Given the description of an element on the screen output the (x, y) to click on. 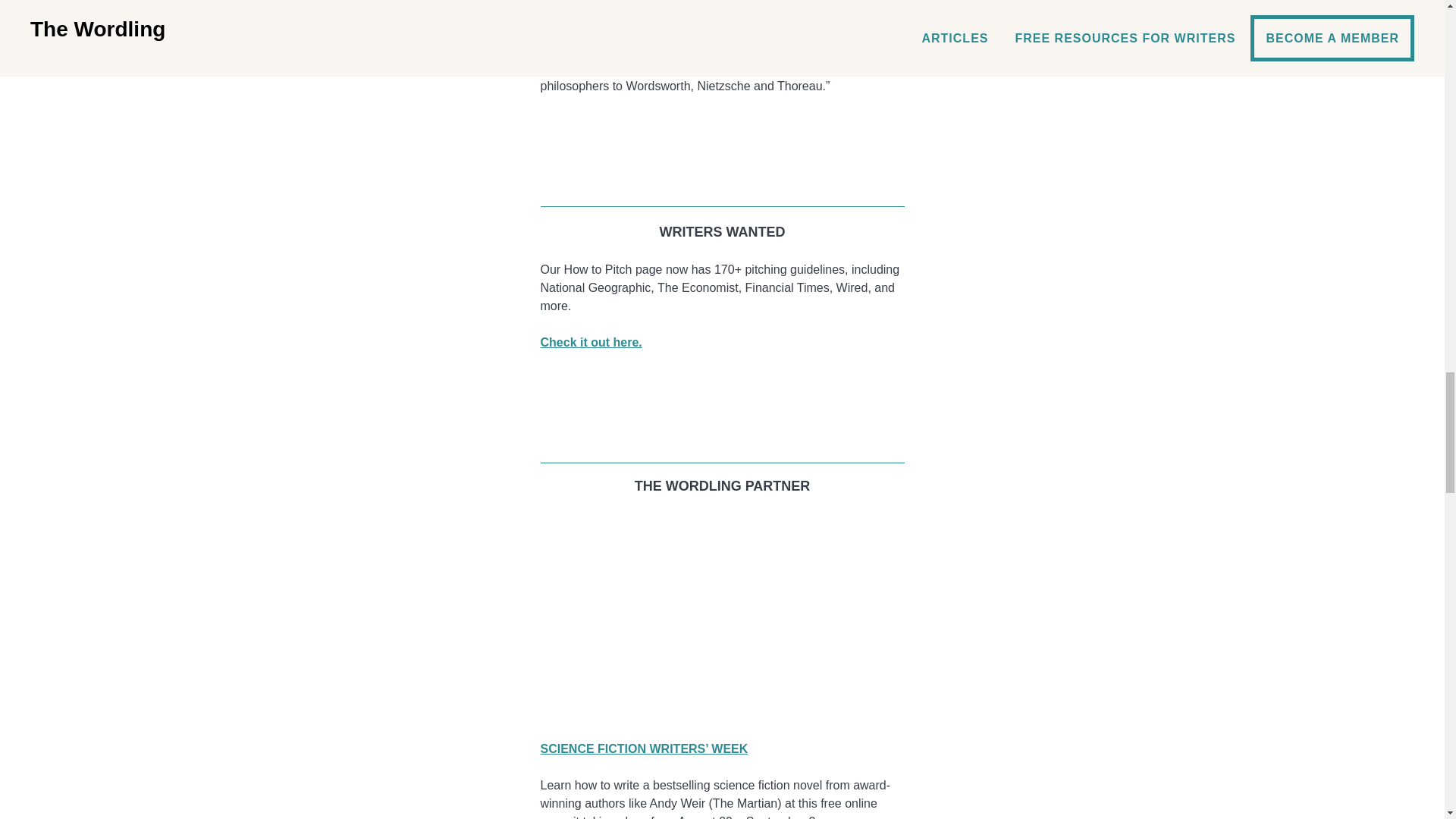
facebook (721, 122)
twitter (721, 403)
E-Mail (721, 170)
Check it out here. (591, 341)
twitter (721, 146)
E-Mail (721, 427)
facebook (721, 378)
